Given the description of an element on the screen output the (x, y) to click on. 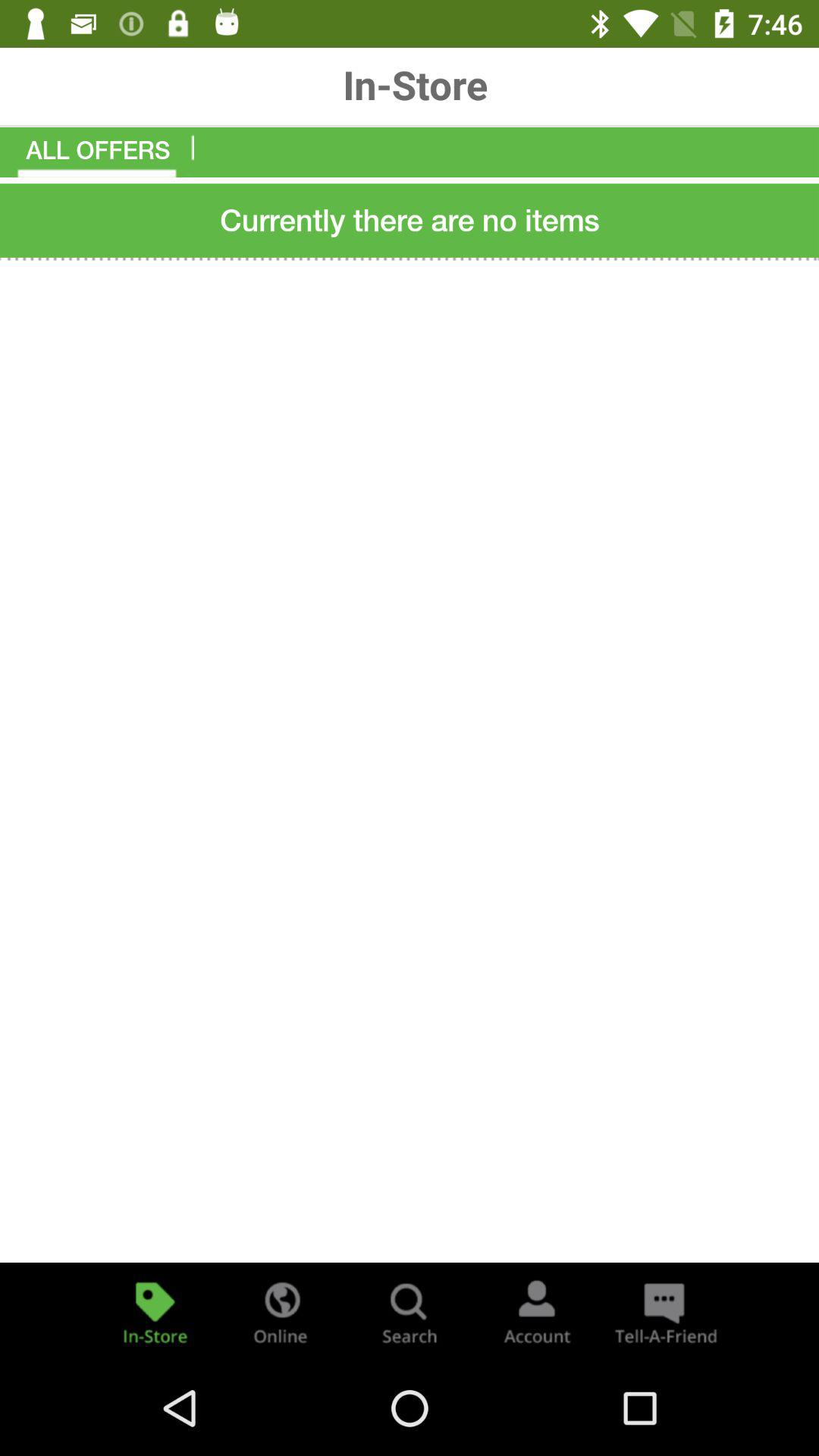
show online discounts (281, 1311)
